Given the description of an element on the screen output the (x, y) to click on. 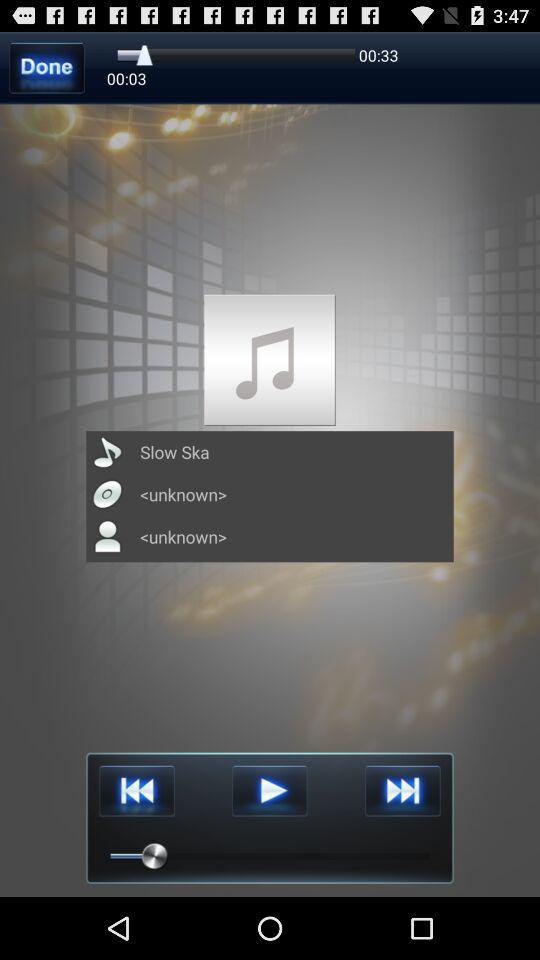
play the current song (269, 790)
